Given the description of an element on the screen output the (x, y) to click on. 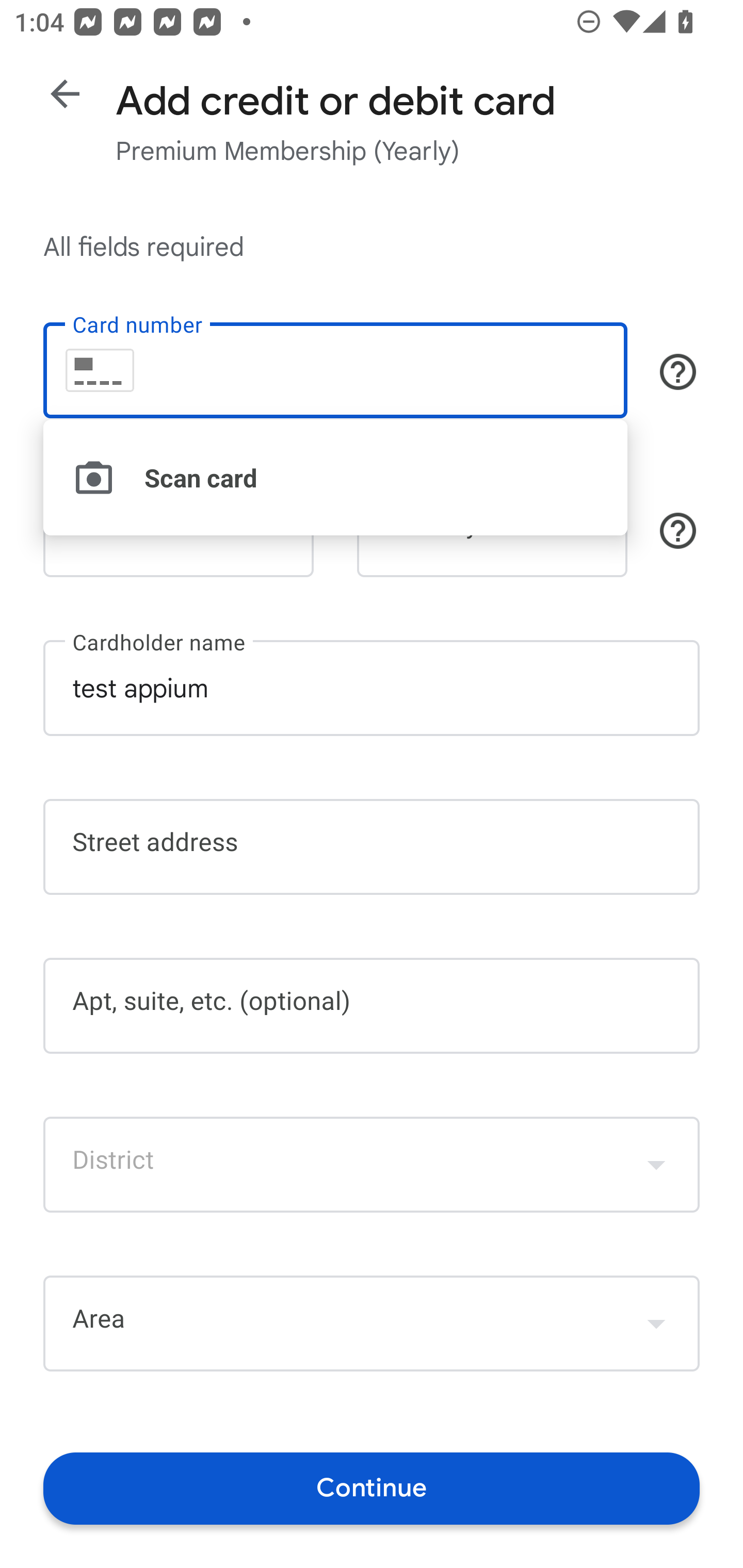
Back (64, 93)
Card number (335, 370)
Button, shows cards that are accepted for payment (677, 371)
Security code help (677, 530)
test appium (371, 687)
Street address (371, 847)
Apt, suite, etc. (optional) (371, 1005)
District (371, 1164)
Show dropdown menu (655, 1164)
Area (371, 1323)
Show dropdown menu (655, 1323)
Continue (371, 1487)
